Given the description of an element on the screen output the (x, y) to click on. 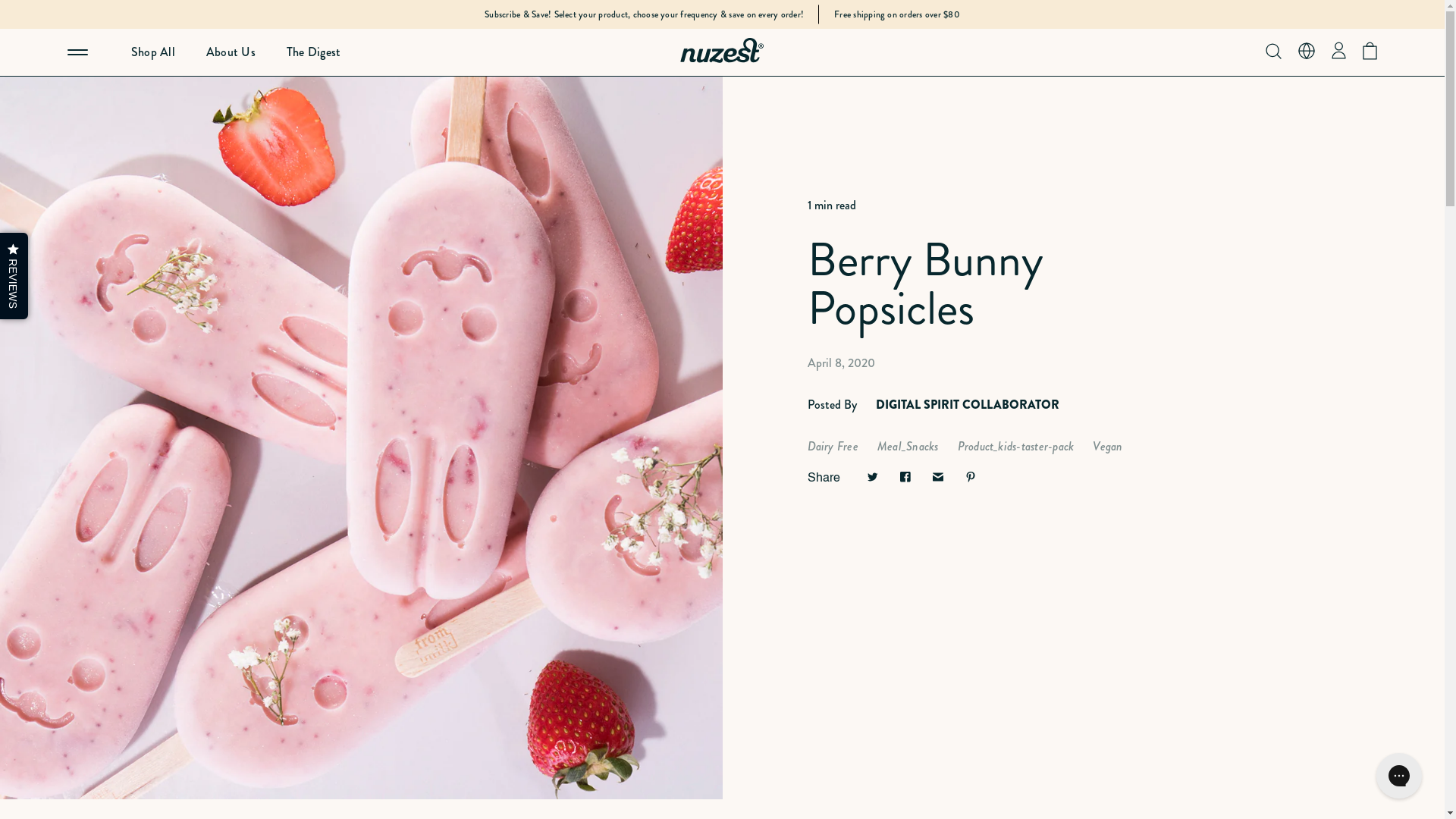
Vegan Element type: text (1107, 446)
The Digest Element type: text (297, 51)
Product_kids-taster-pack Element type: text (1015, 446)
Meal_Snacks Element type: text (907, 446)
Dairy Free Element type: text (831, 446)
About Us Element type: text (215, 51)
Gorgias live chat messenger Element type: hover (1398, 775)
Shop All Element type: text (137, 51)
